Given the description of an element on the screen output the (x, y) to click on. 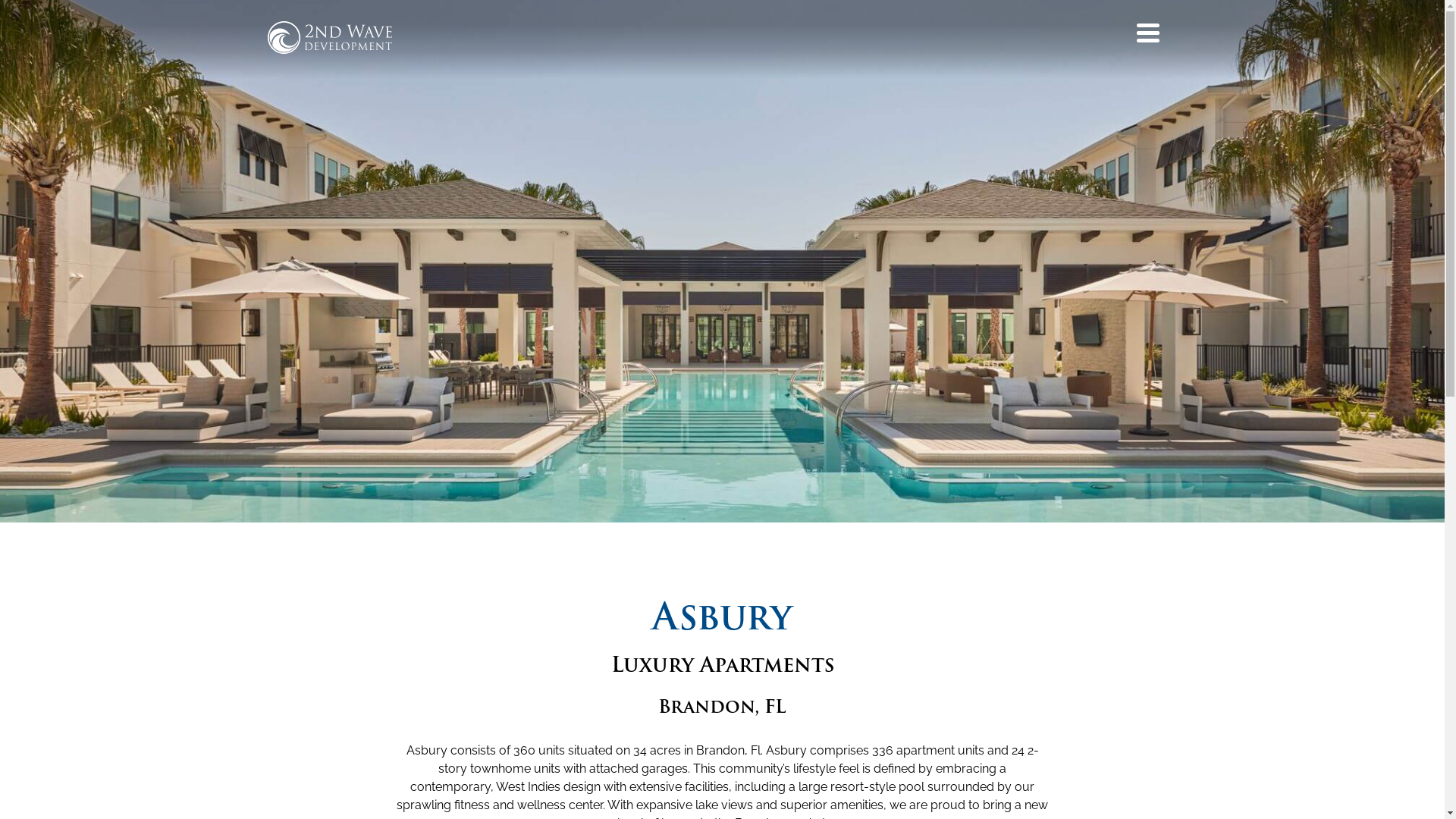
Menu Element type: text (1146, 32)
